Given the description of an element on the screen output the (x, y) to click on. 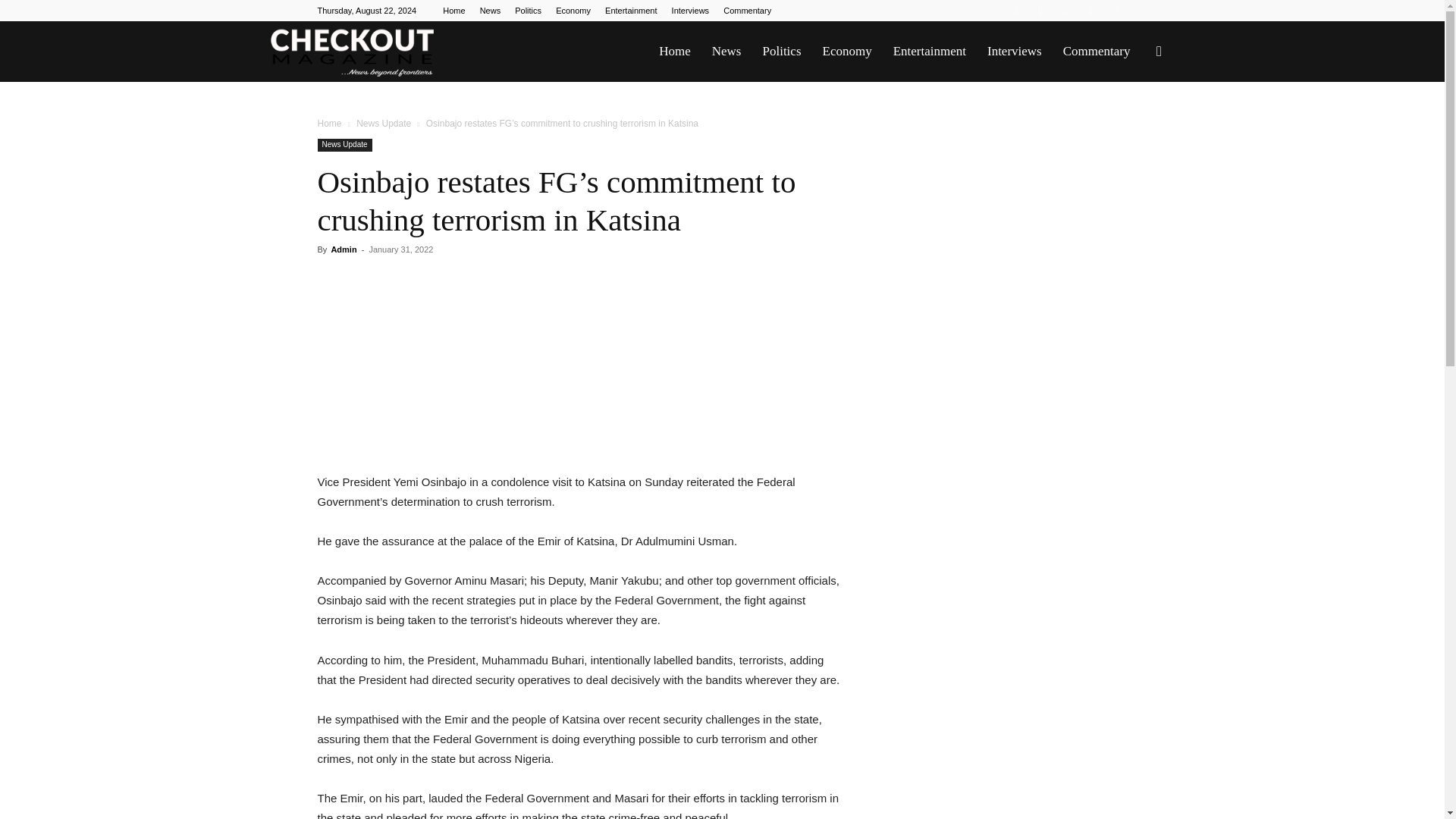
View all posts in News Update (383, 122)
Instagram (1040, 10)
Home (453, 10)
Twitter (1090, 10)
CHECKOUT MAGAZINE (351, 52)
Economy (846, 51)
Home (328, 122)
Interviews (1014, 51)
News (490, 10)
Search (1134, 124)
